Given the description of an element on the screen output the (x, y) to click on. 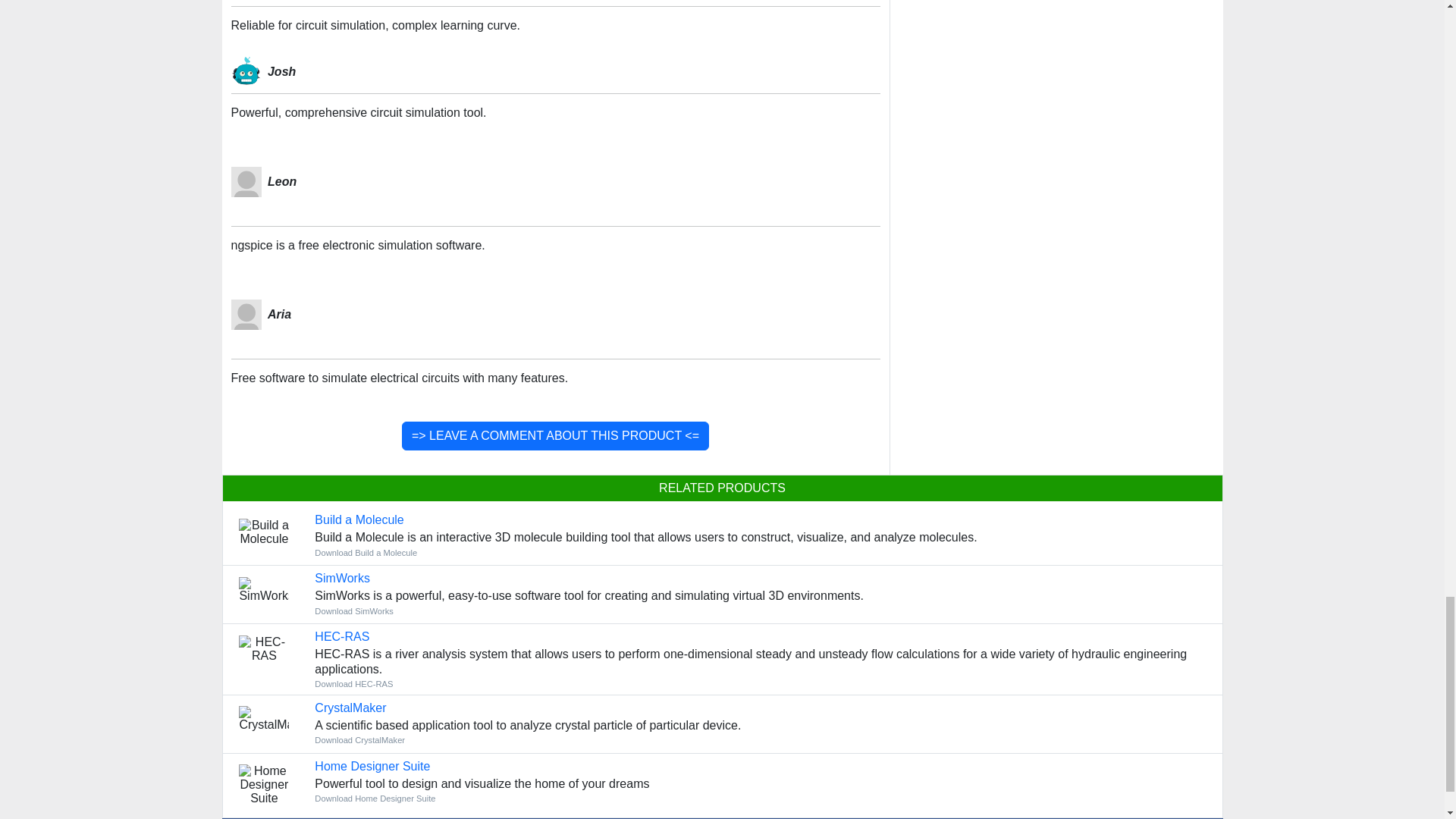
Home Designer Suite (371, 766)
Download Build a Molecule (358, 519)
HEC-RAS (341, 635)
CrystalMaker (349, 707)
Download HEC-RAS (341, 635)
Build a Molecule (358, 519)
Download CrystalMaker (349, 707)
Download SimWorks (353, 610)
SimWorks (341, 577)
Download Home Designer Suite (374, 798)
Download CrystalMaker (359, 739)
Download SimWorks (341, 577)
Download Home Designer Suite (371, 766)
Download Build a Molecule (365, 552)
Download HEC-RAS (353, 683)
